Given the description of an element on the screen output the (x, y) to click on. 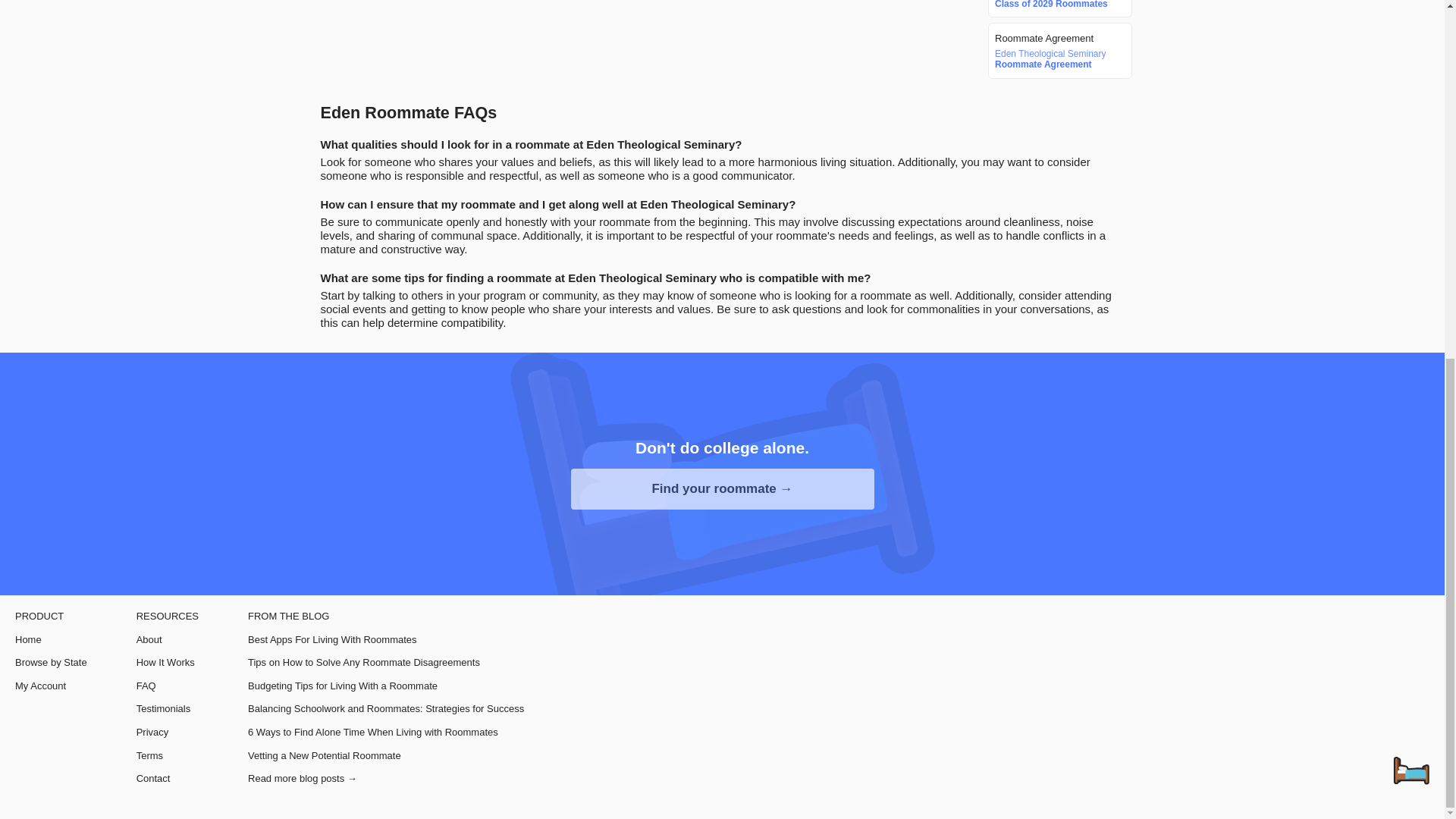
Home (50, 639)
Privacy (167, 732)
How It Works (167, 662)
Eden Theological Seminary Class of 2029 Roommates (1057, 4)
My Account (50, 686)
Testimonials (167, 708)
Browse by State (50, 662)
Eden Theological Seminary Roommate Agreement (1057, 59)
FAQ (167, 686)
About (167, 639)
